Given the description of an element on the screen output the (x, y) to click on. 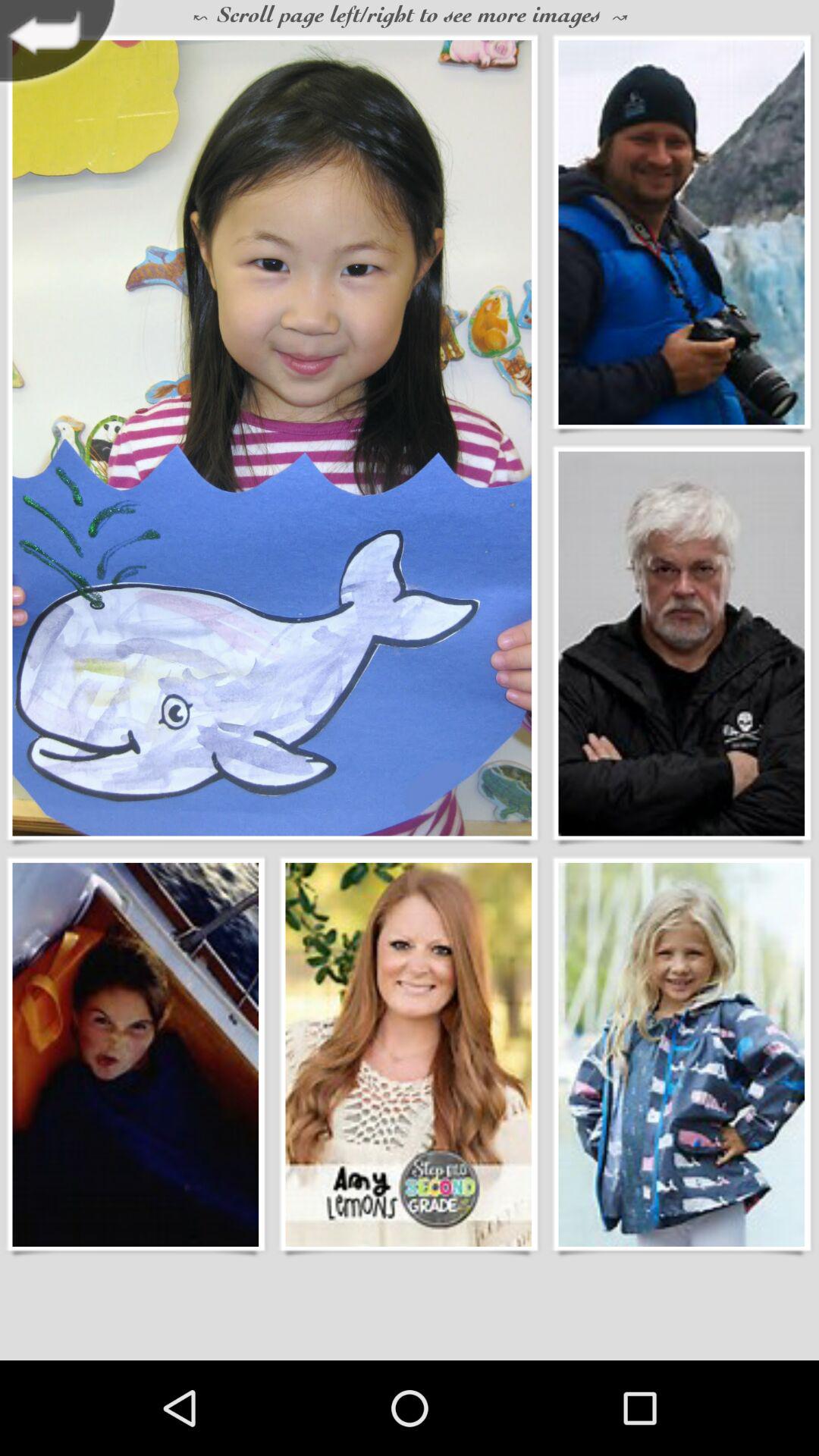
young girl holding whale creation (271, 438)
